Given the description of an element on the screen output the (x, y) to click on. 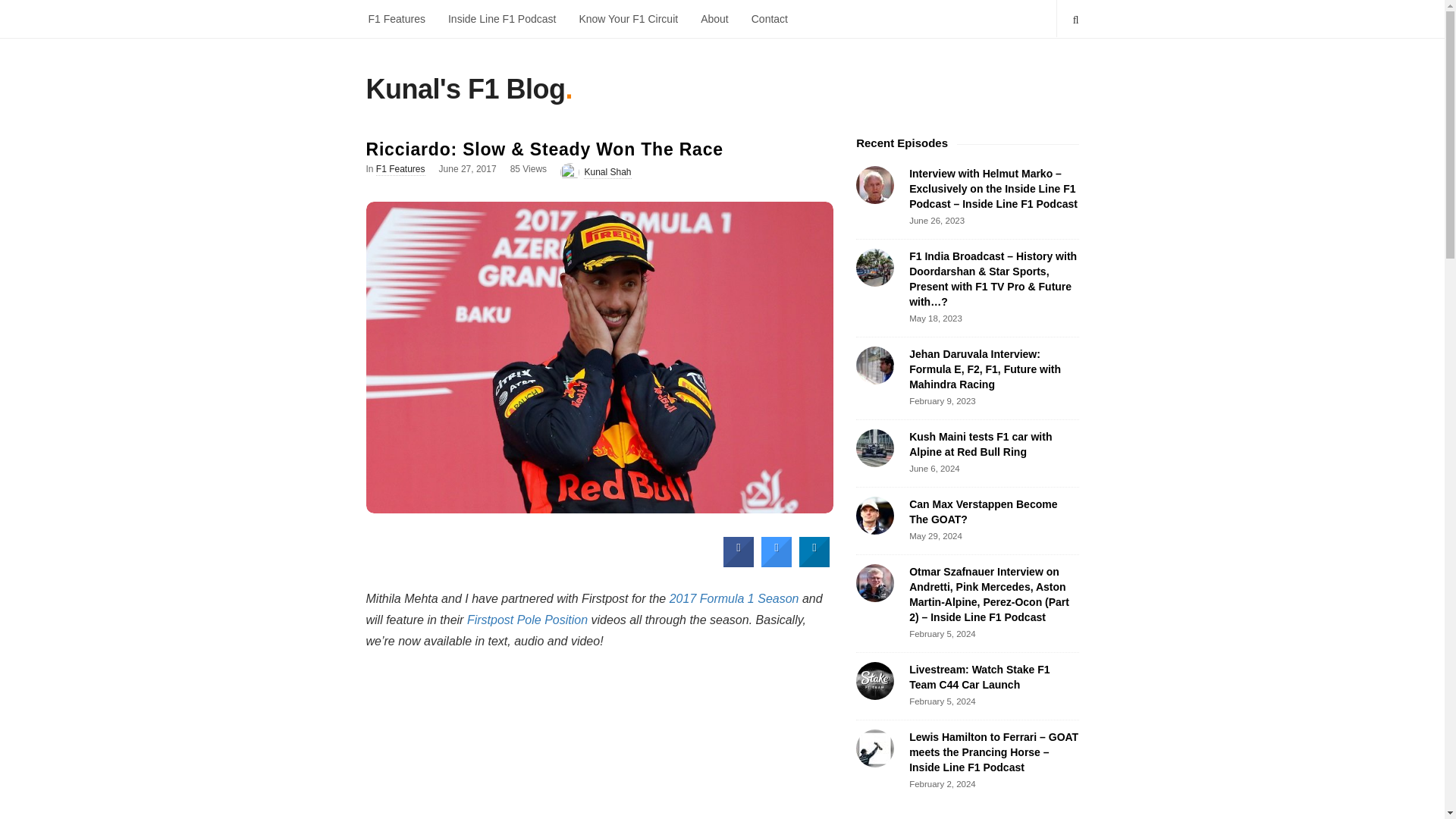
Share on Twitter (776, 562)
Contact (769, 18)
Know Your F1 Circuit (627, 18)
Kunal Shah (606, 173)
Kunal's F1 Blog (464, 92)
F1 Features (400, 169)
Firstpost Pole Position (527, 619)
Share to LinkedIn (814, 562)
Share on Facebook (738, 562)
2017 Formula 1 Season (734, 598)
